Given the description of an element on the screen output the (x, y) to click on. 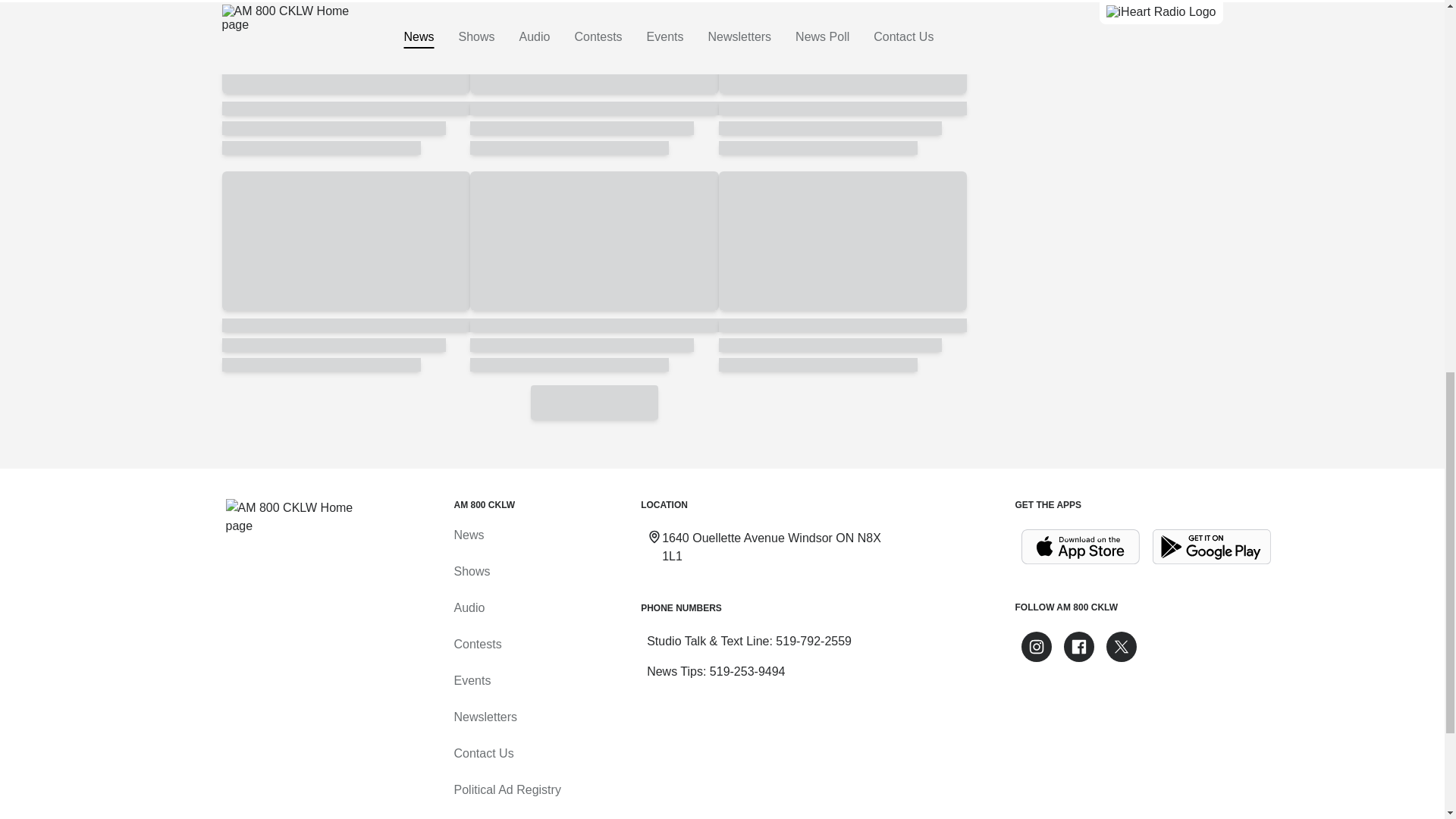
Contests (476, 644)
Contact Us (482, 753)
Political Ad Registry (506, 789)
Audio (468, 607)
519-792-2559 (813, 640)
News (467, 534)
Shows (470, 571)
519-253-9494 (748, 671)
Download on the App Store (1080, 547)
Get it on Google Play (1212, 547)
